Given the description of an element on the screen output the (x, y) to click on. 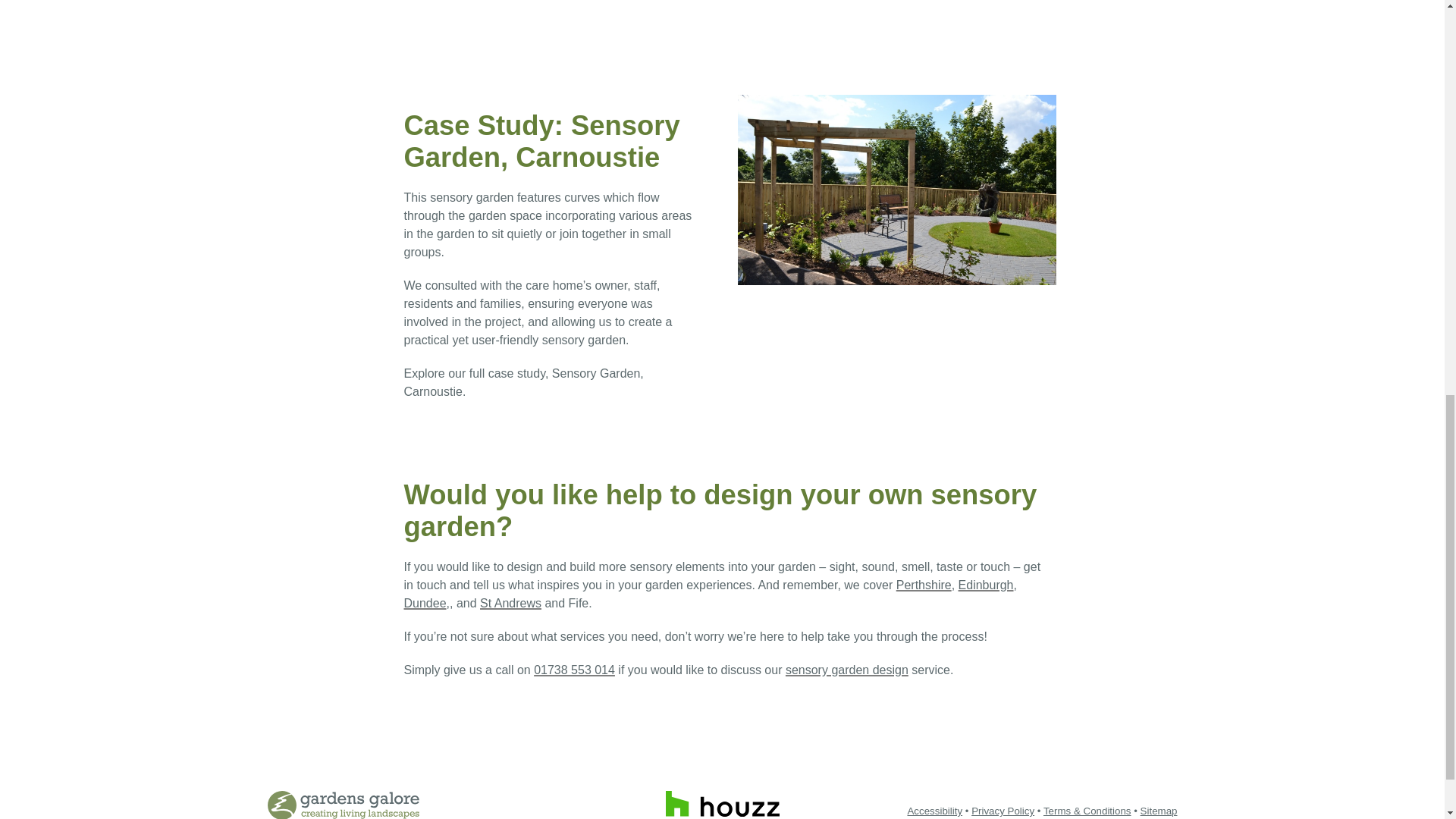
Visit our Houzz profile (721, 803)
